Given the description of an element on the screen output the (x, y) to click on. 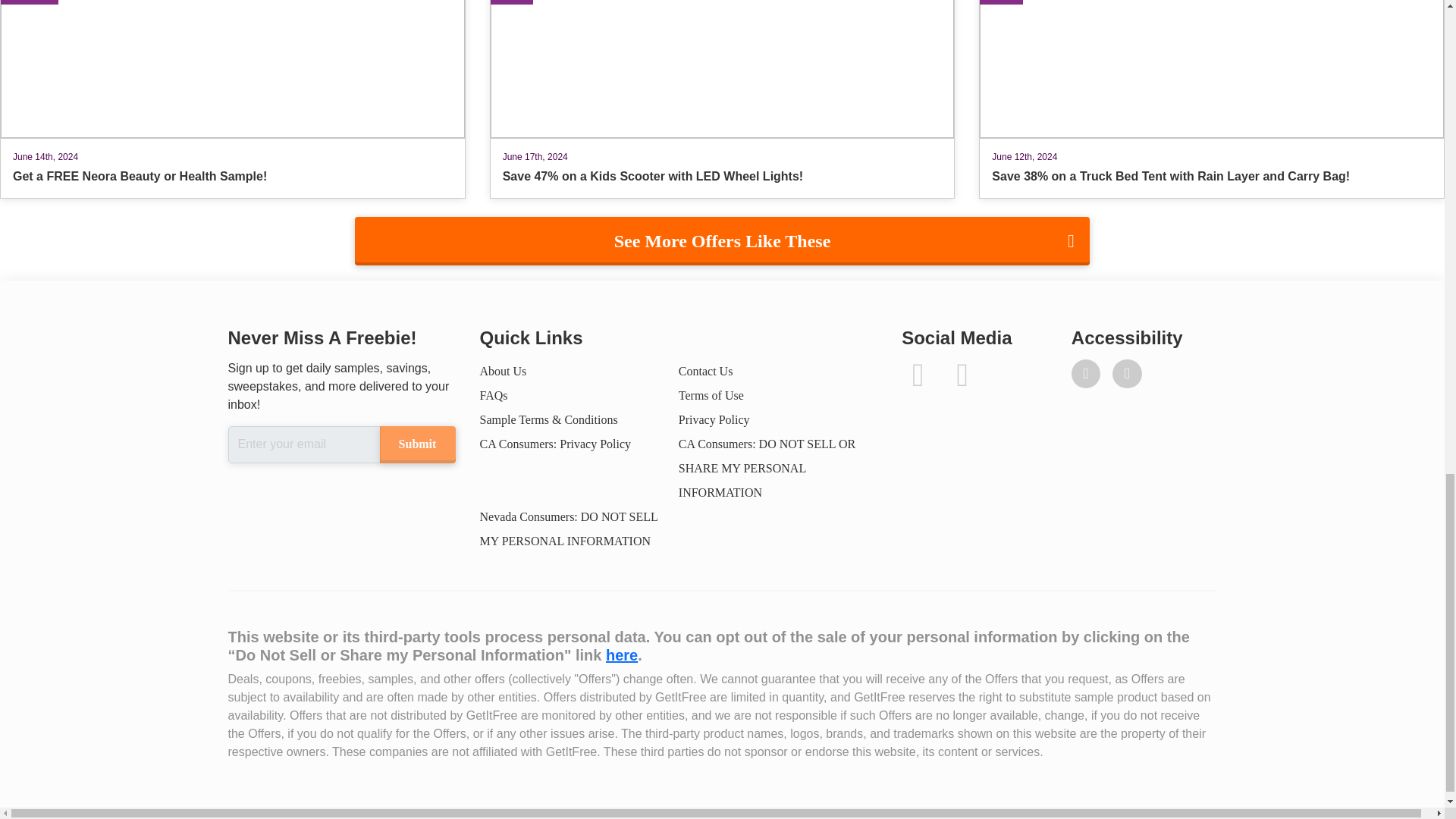
Contact Us (705, 370)
Nevada Consumers: DO NOT SELL MY PERSONAL INFORMATION (568, 528)
CA Consumers: DO NOT SELL OR SHARE MY PERSONAL INFORMATION (767, 467)
CA Consumers: Privacy Policy (554, 443)
here (621, 655)
See More Offers Like These (722, 241)
Terms of Use (711, 395)
About Us (502, 370)
FAQs (492, 395)
Submit (416, 444)
Privacy Policy (713, 419)
